Given the description of an element on the screen output the (x, y) to click on. 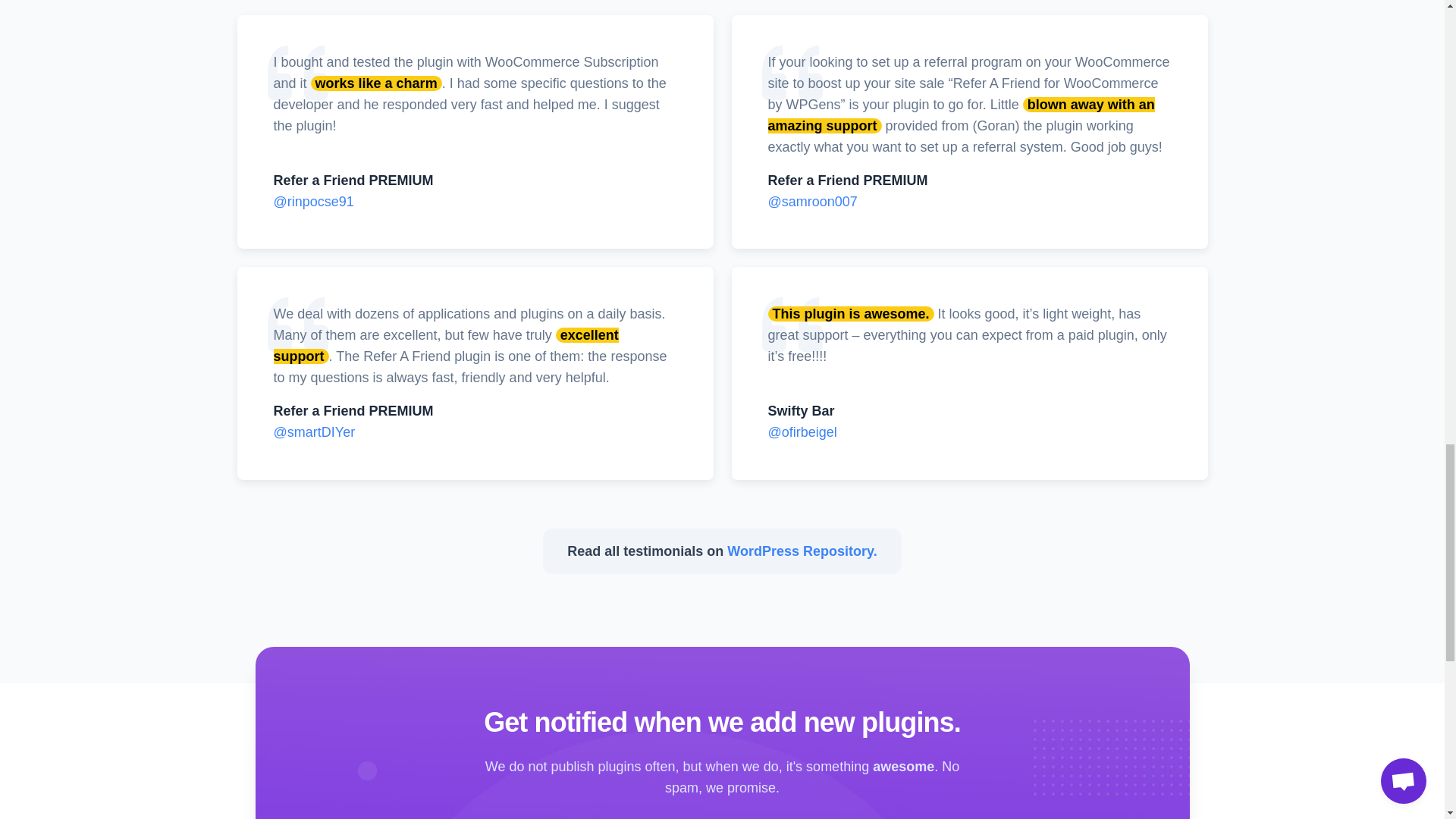
WordPress Repository. (801, 550)
